Given the description of an element on the screen output the (x, y) to click on. 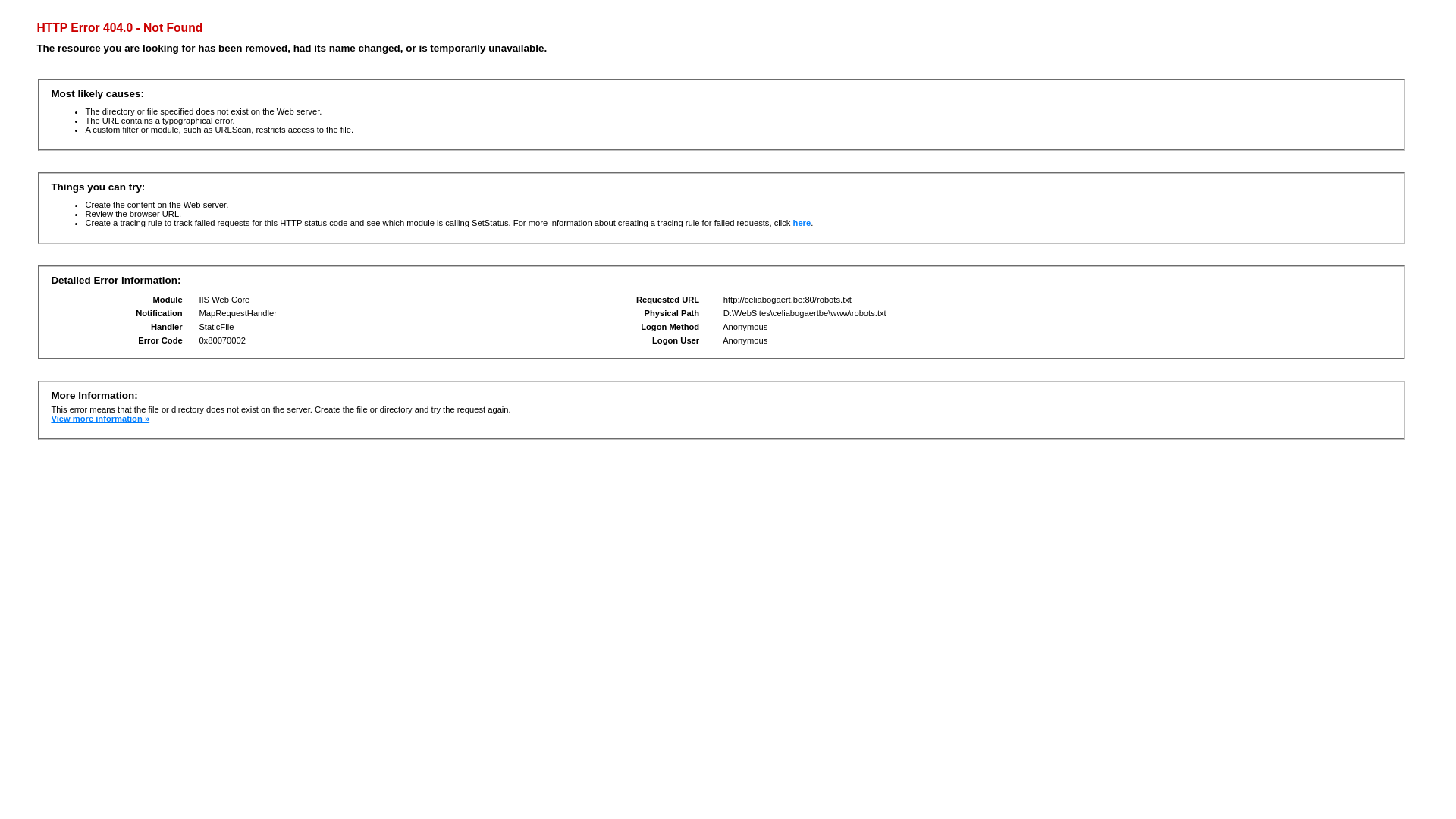
here Element type: text (802, 222)
